Given the description of an element on the screen output the (x, y) to click on. 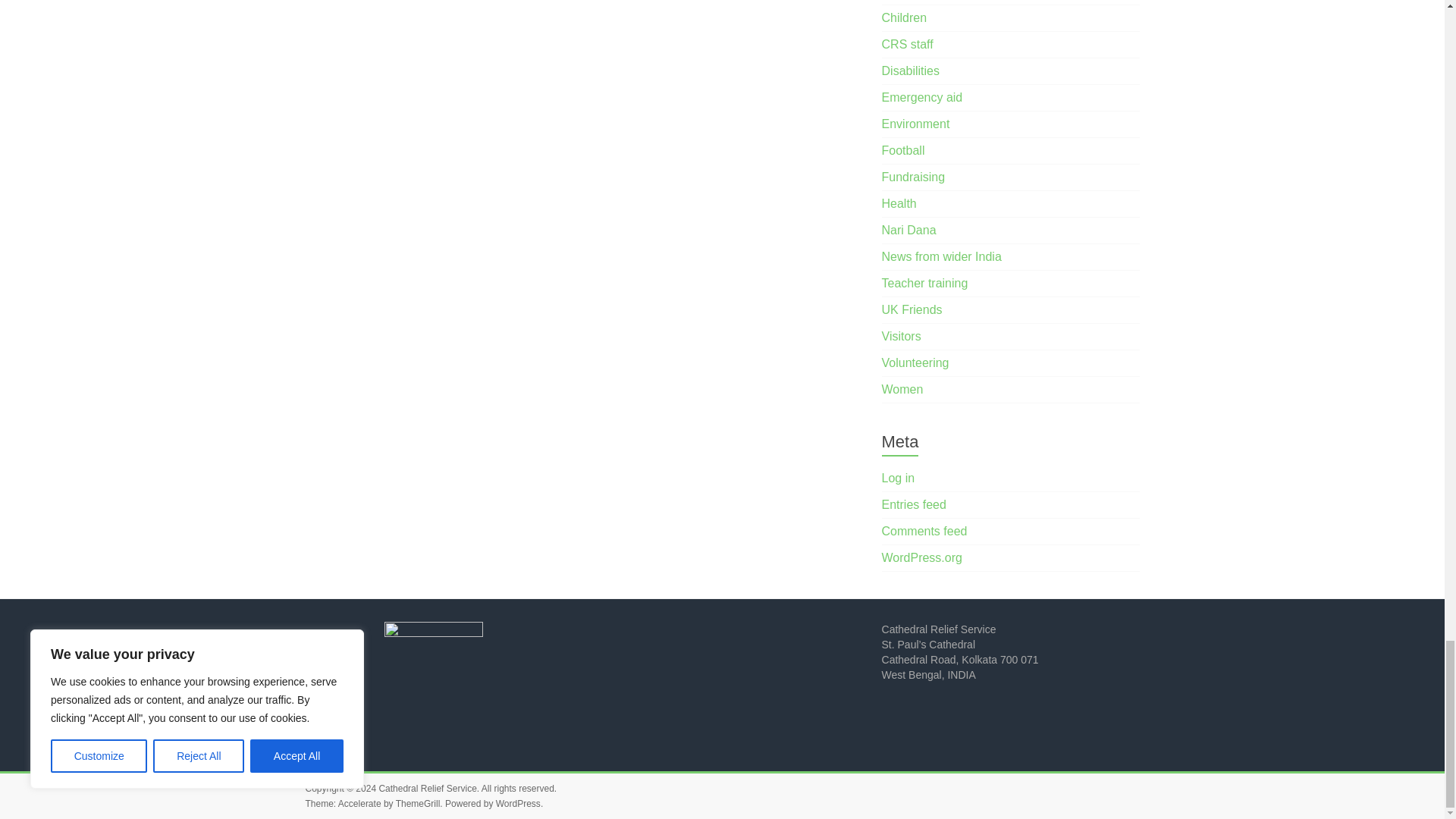
WordPress (518, 803)
Accelerate (359, 803)
Cathedral Relief Service (427, 787)
